Given the description of an element on the screen output the (x, y) to click on. 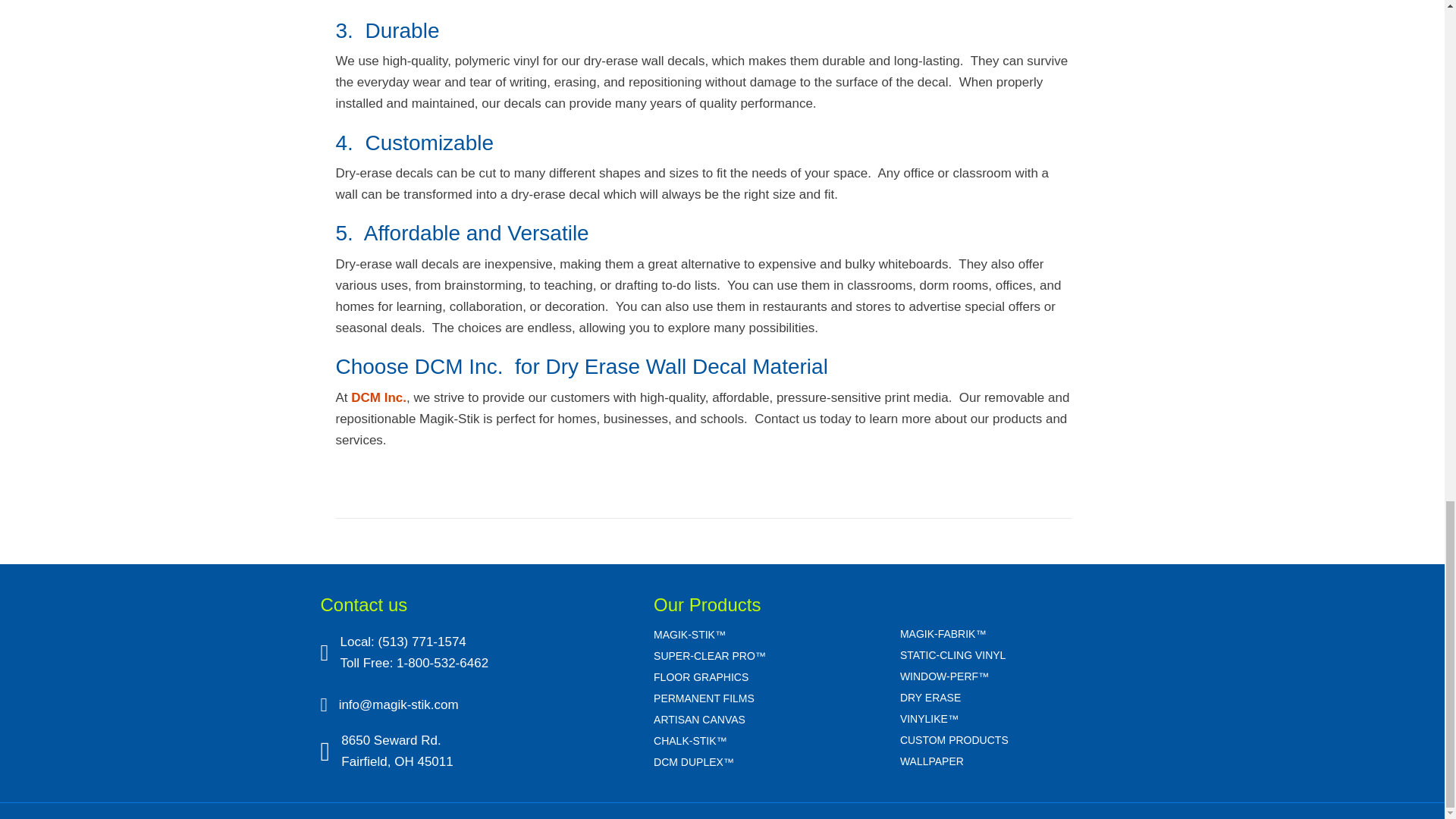
Local:  (358, 641)
1-800-532-6462 (441, 663)
DCM Inc. (378, 397)
